Given the description of an element on the screen output the (x, y) to click on. 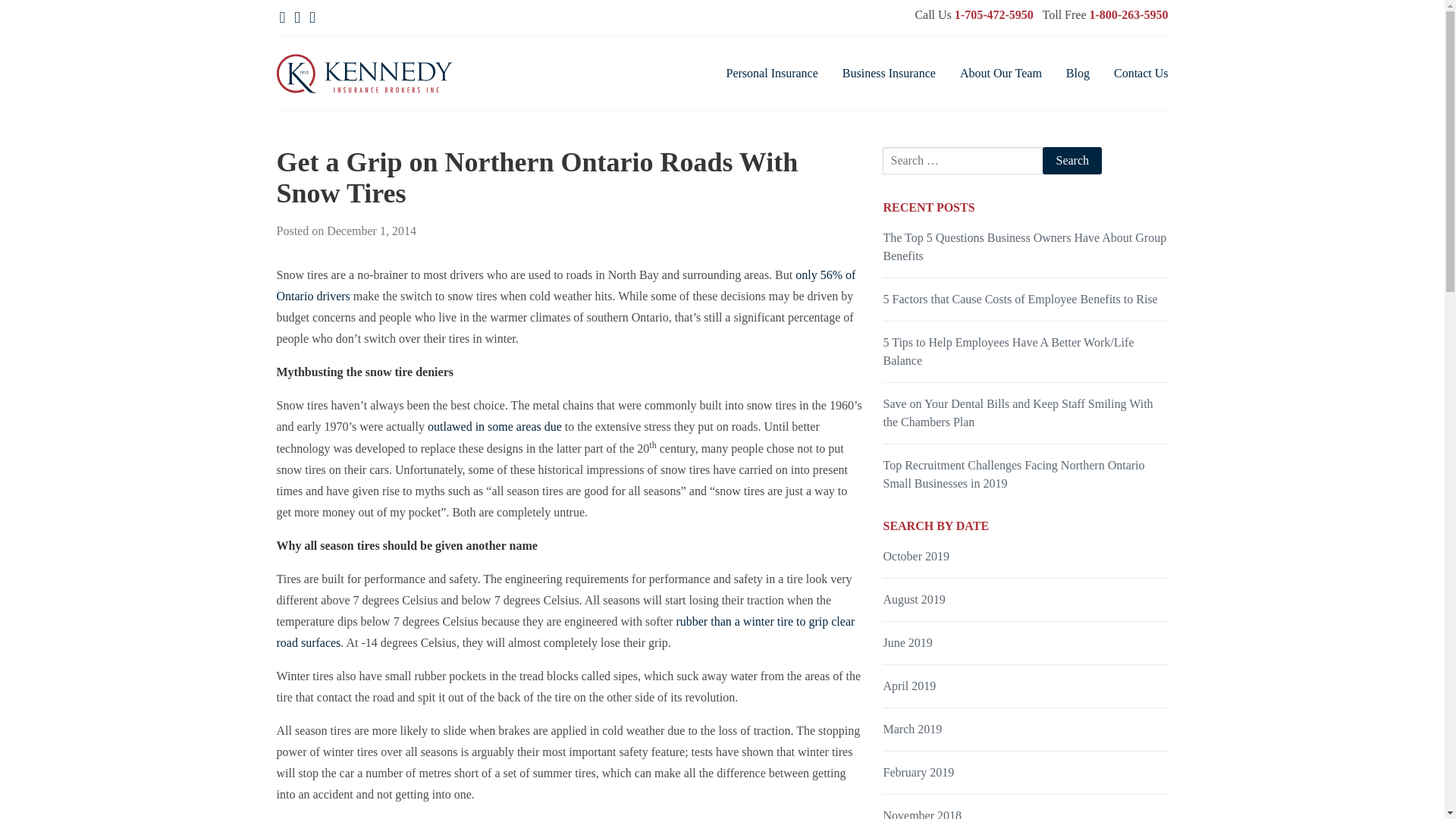
Search (1072, 160)
rubber than a winter tire to grip clear road surfaces (565, 632)
Blog (1077, 73)
outlawed in some areas due (495, 426)
March 2019 (912, 728)
Contact Us (1141, 73)
Search (1072, 160)
Personal Insurance (772, 73)
